Given the description of an element on the screen output the (x, y) to click on. 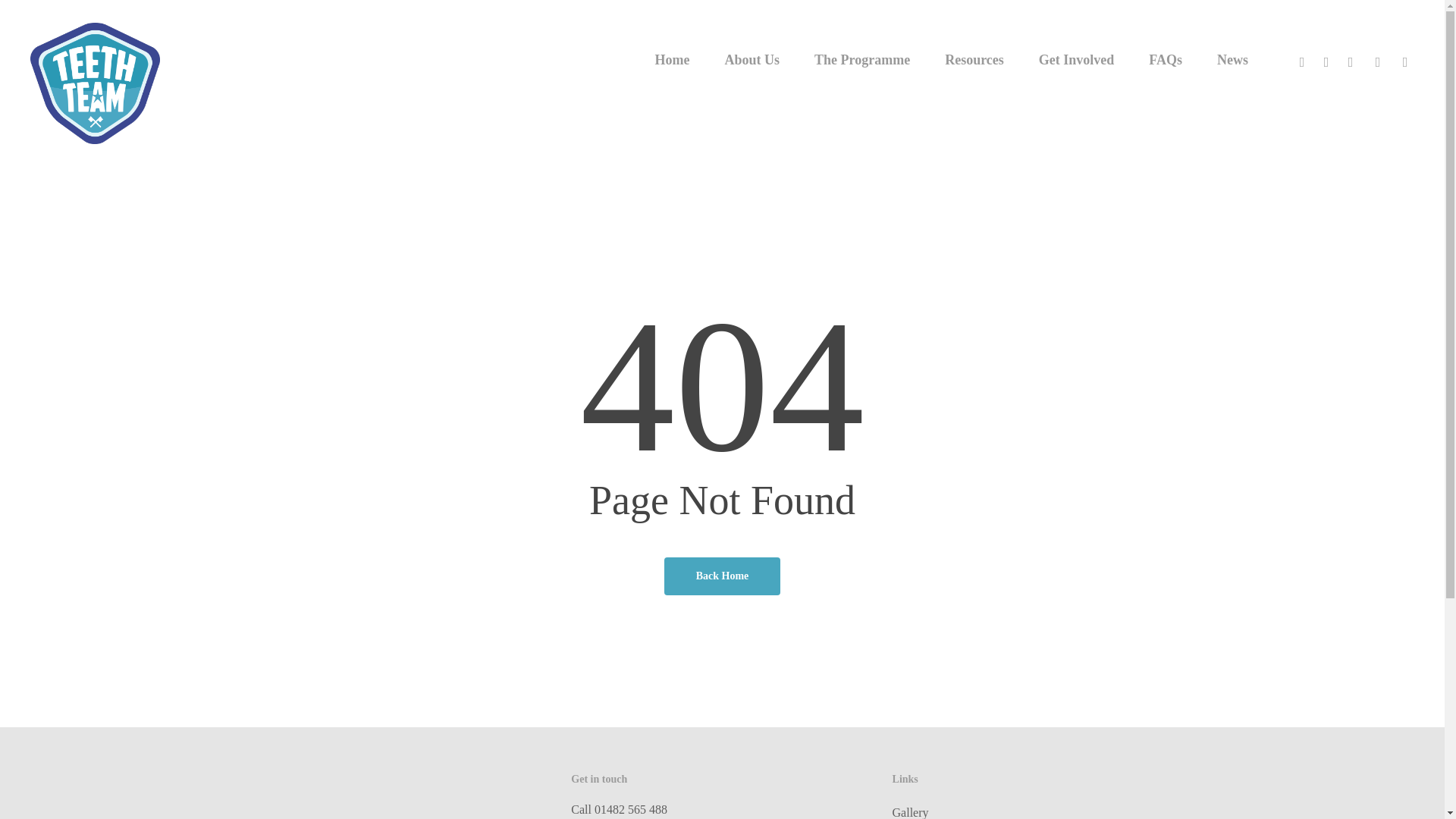
FAQs (1165, 59)
Home (672, 59)
Back Home (721, 576)
The Programme (861, 59)
Gallery (1042, 810)
facebook (1326, 59)
About Us (751, 59)
Resources (974, 59)
x-twitter (1302, 59)
instagram (1377, 59)
